Given the description of an element on the screen output the (x, y) to click on. 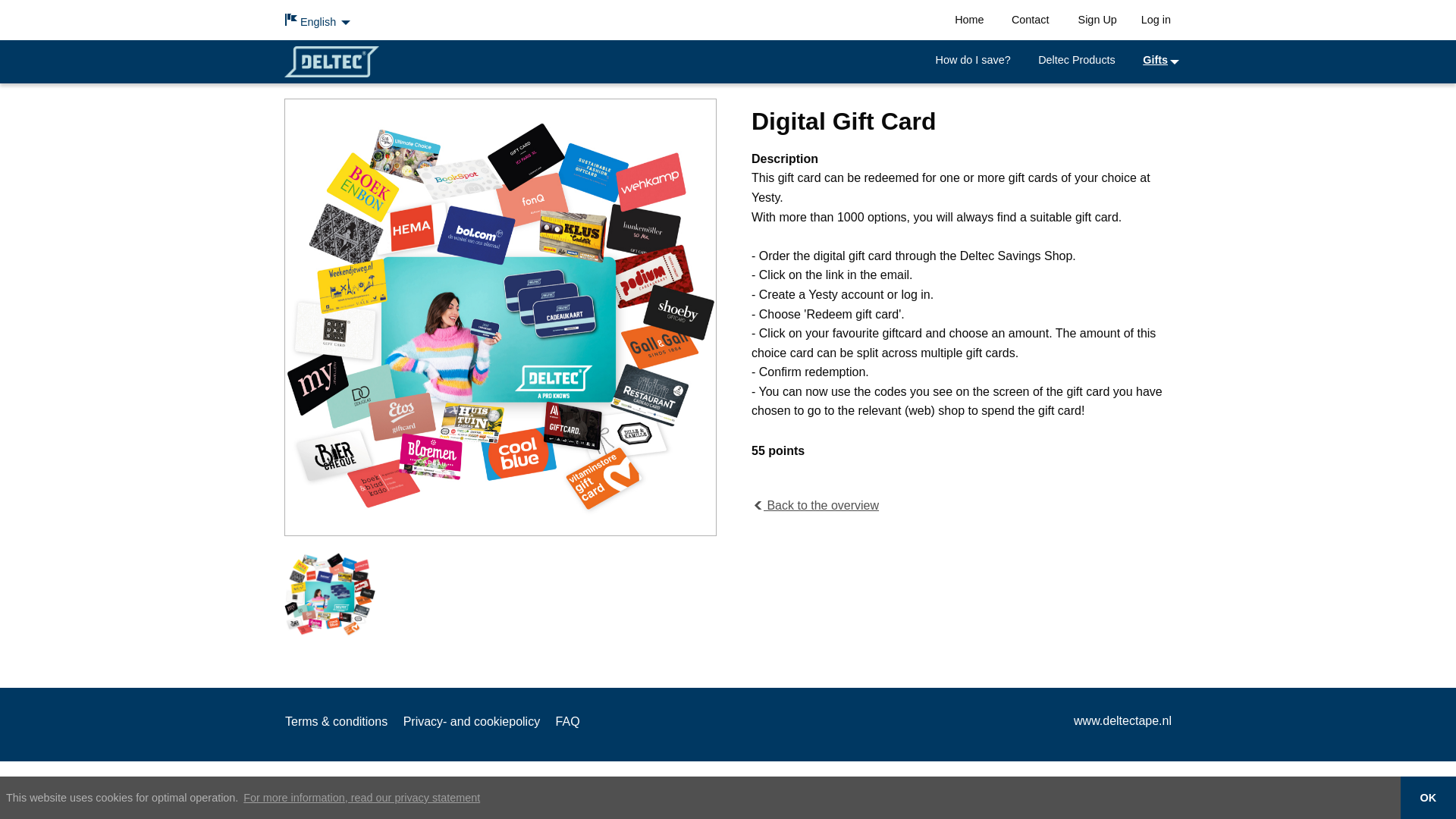
Deltec Spaarshop (330, 60)
Digital Gift Card (329, 593)
Deltec Products (1076, 59)
Home (968, 19)
Back to the overview (756, 503)
Flag (291, 19)
FAQ (574, 721)
Privacy- and cookiepolicy (478, 721)
Chevron (756, 503)
How do I save? (973, 59)
